Given the description of an element on the screen output the (x, y) to click on. 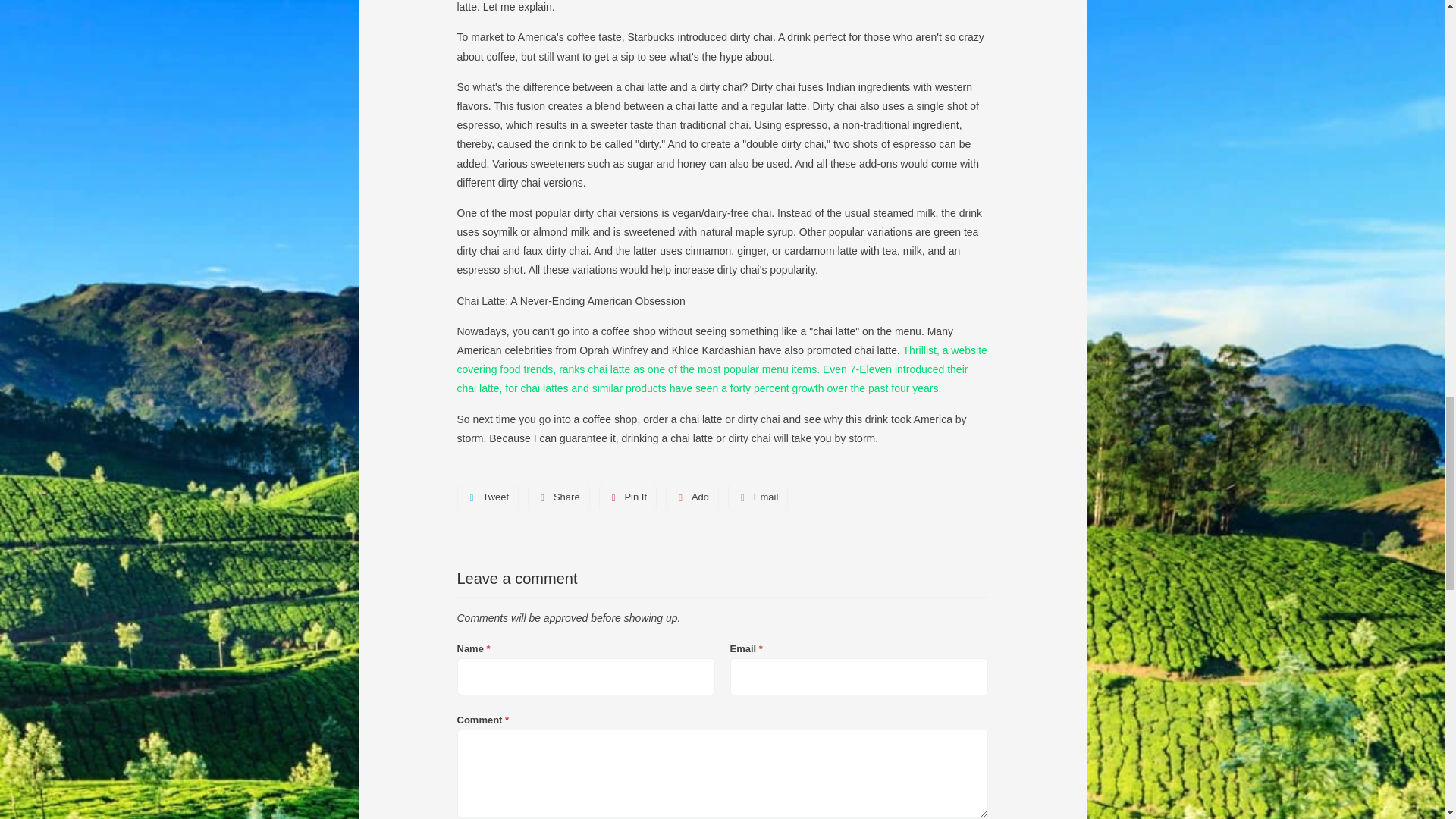
Email this to a friend (757, 497)
Share this on Twitter (487, 497)
Share this on Facebook (558, 497)
Share this on Pinterest (628, 497)
